Given the description of an element on the screen output the (x, y) to click on. 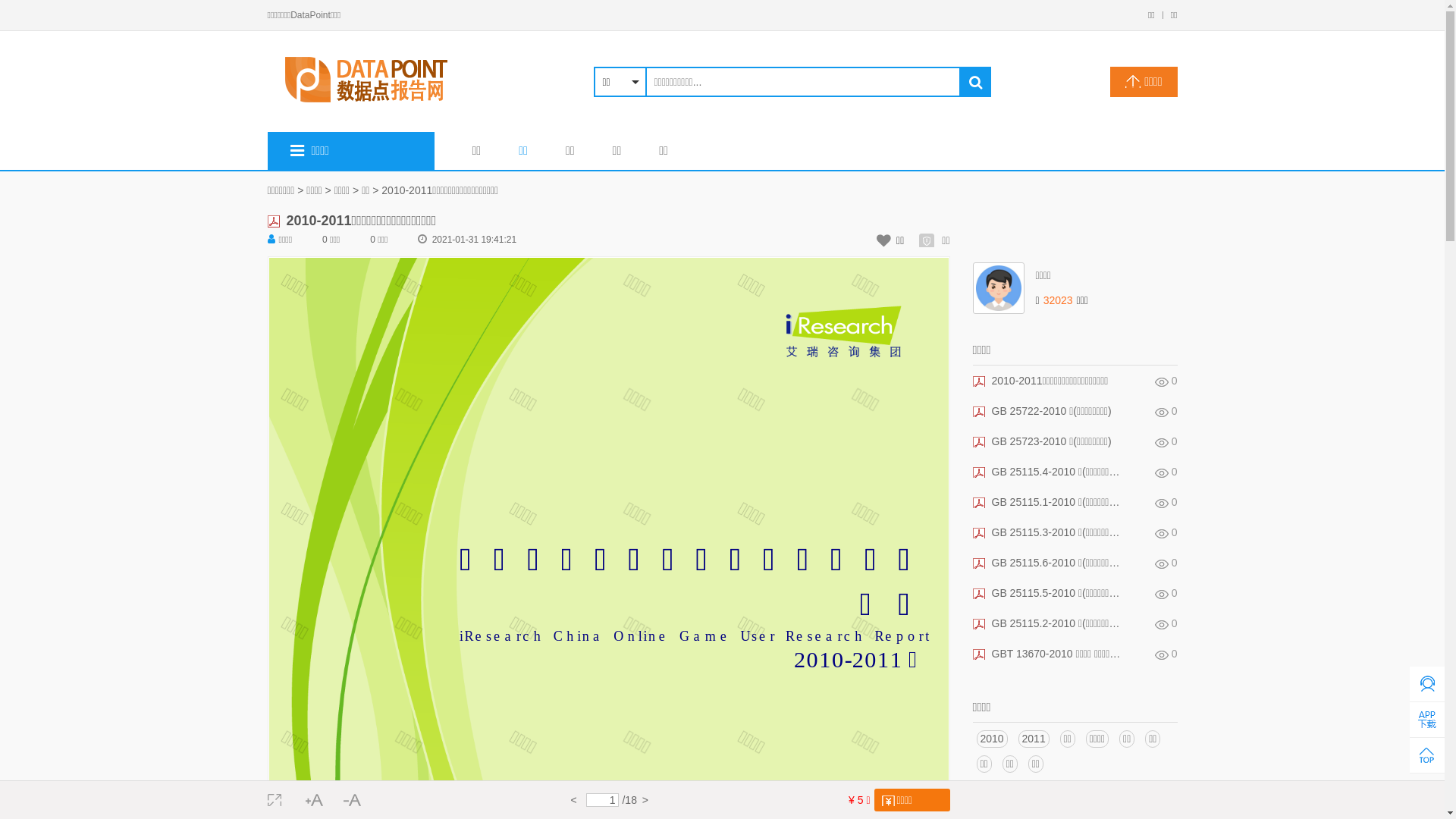
2011 Element type: text (1033, 738)
2010 Element type: text (991, 738)
